Given the description of an element on the screen output the (x, y) to click on. 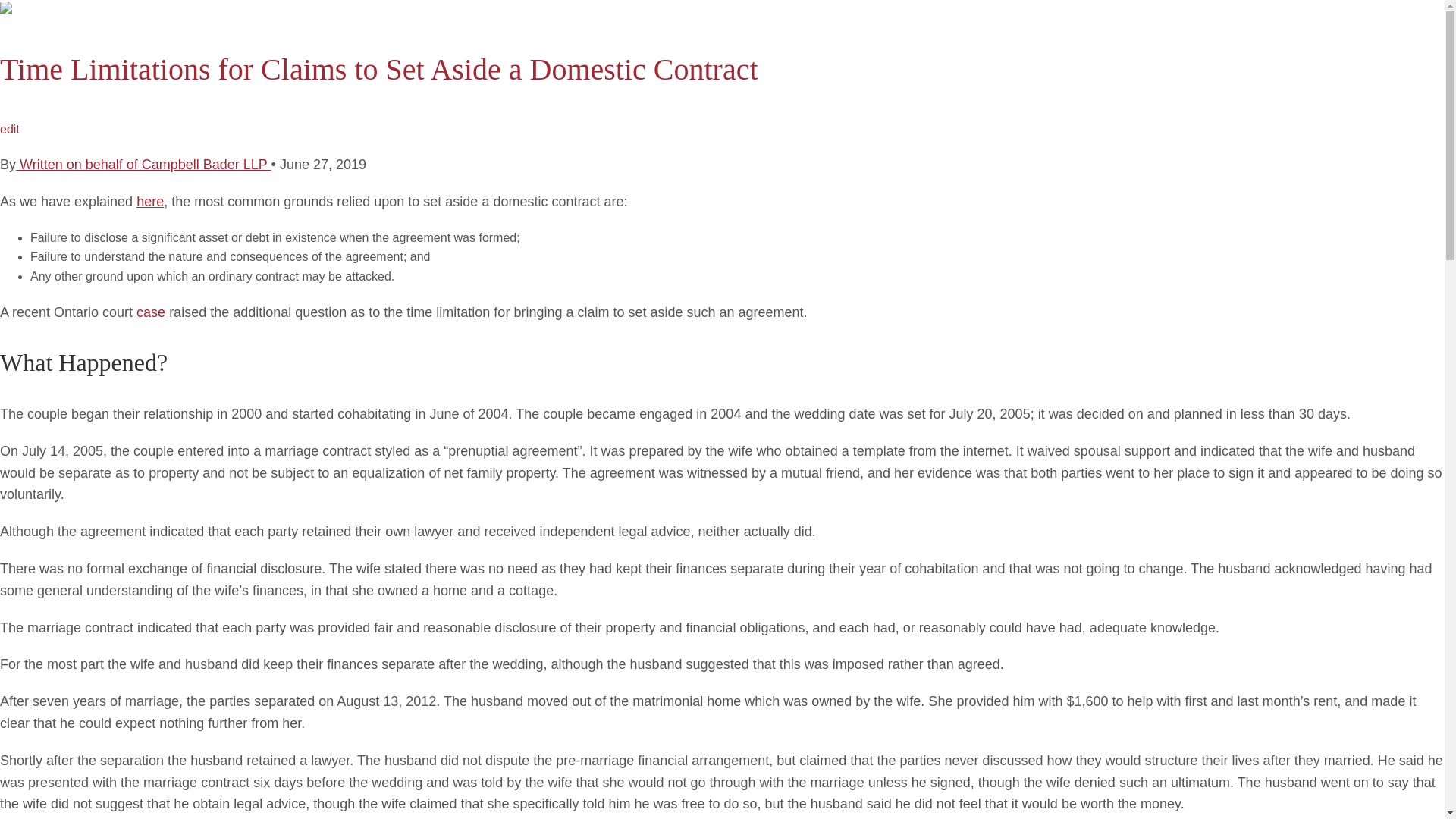
Written on behalf of Campbell Bader LLP (143, 164)
case (150, 312)
edit (10, 128)
here (149, 201)
